Given the description of an element on the screen output the (x, y) to click on. 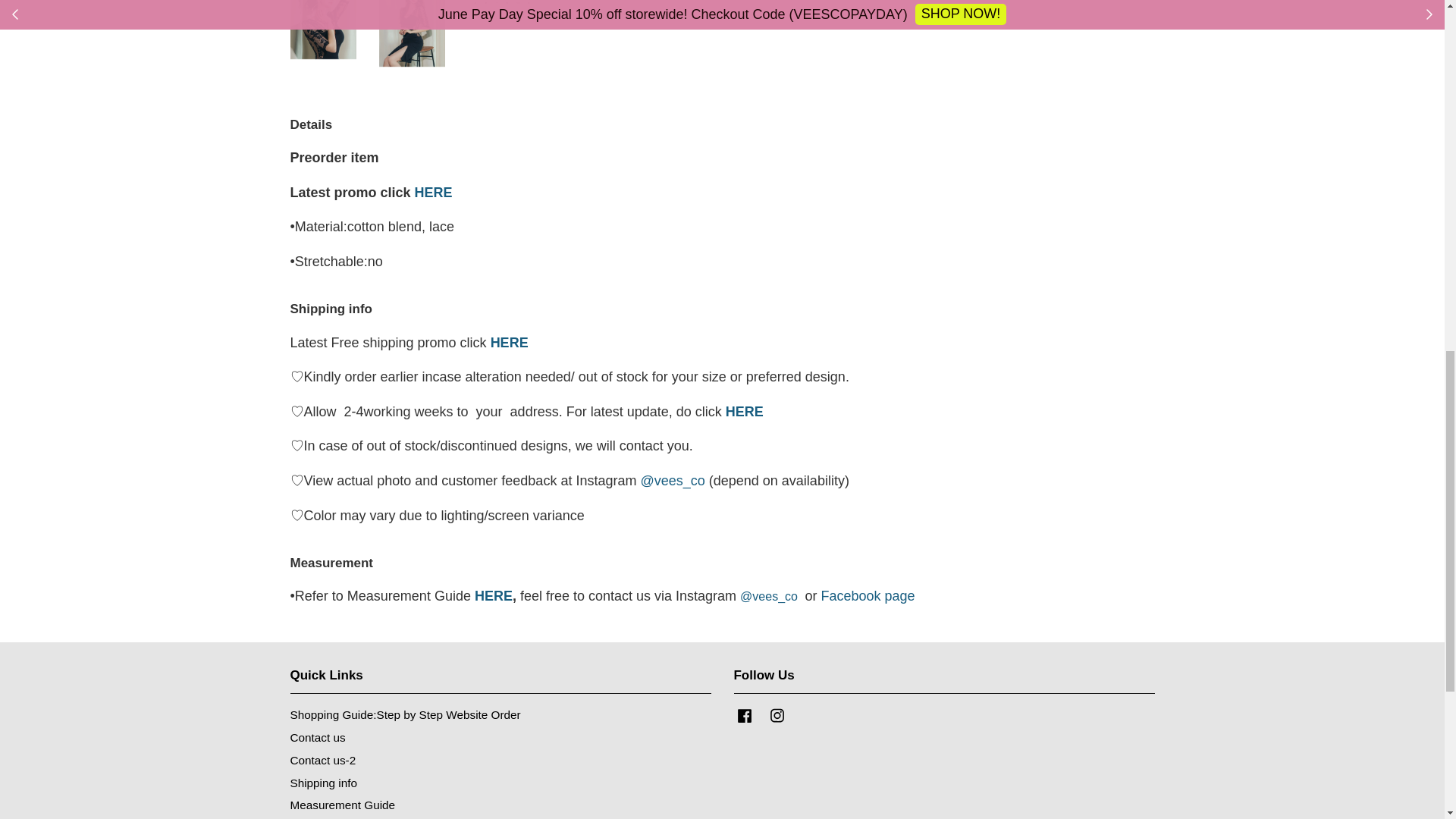
icon-facebook (744, 715)
Vee's Co. on Facebook (744, 721)
Vee's Co. on Instagram (777, 721)
icon-instagram (777, 715)
